Given the description of an element on the screen output the (x, y) to click on. 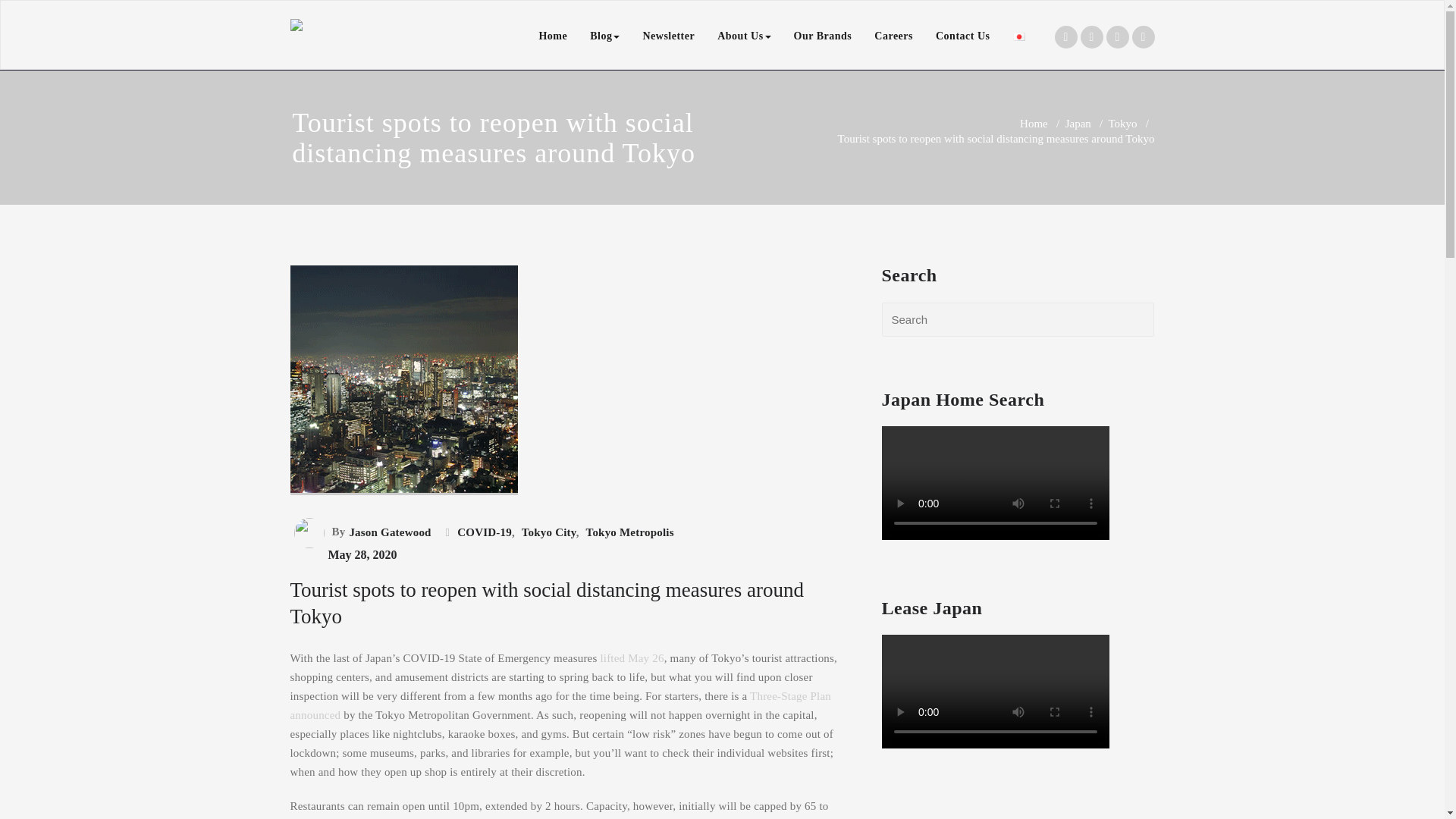
Tokyo Metropolis (628, 532)
Tokyo (1122, 123)
Our Brands (823, 36)
Japan (1077, 123)
Home (552, 36)
Home (1034, 123)
lifted May 26 (631, 657)
Newsletter (668, 36)
